Given the description of an element on the screen output the (x, y) to click on. 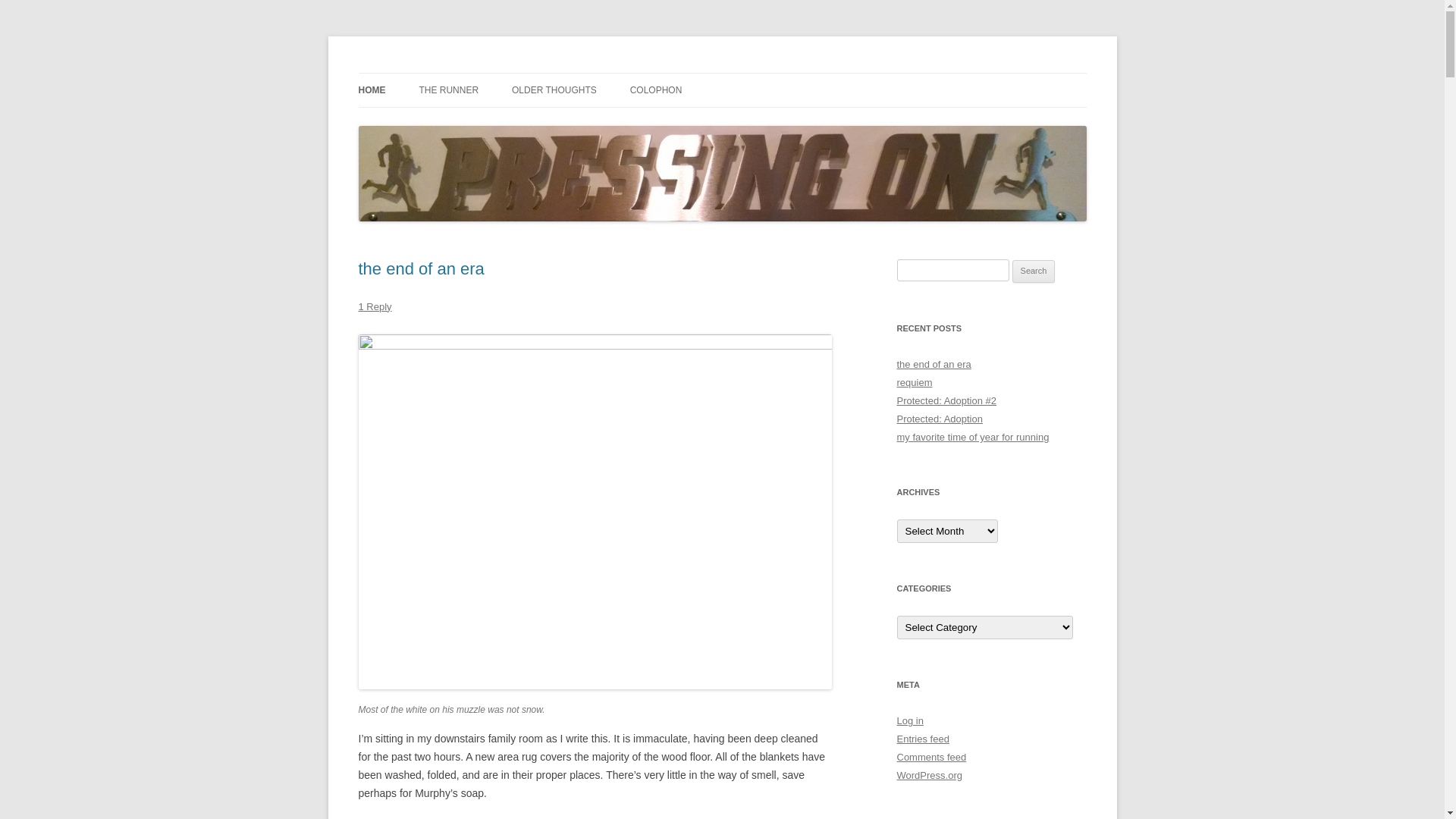
THE RUNNER Element type: text (448, 89)
Log in Element type: text (909, 720)
Comments feed Element type: text (931, 756)
the end of an era Element type: text (933, 364)
Entries feed Element type: text (922, 738)
the end of an era Element type: text (420, 268)
Search Element type: text (1033, 271)
my favorite time of year for running Element type: text (972, 436)
COLOPHON Element type: text (656, 89)
Protected: Adoption Element type: text (939, 418)
WordPress.org Element type: text (928, 775)
Skip to content Element type: text (721, 72)
requiem Element type: text (913, 382)
OLDER THOUGHTS Element type: text (553, 89)
1 Reply Element type: text (374, 306)
HOME Element type: text (371, 89)
Protected: Adoption #2 Element type: text (946, 400)
